Given the description of an element on the screen output the (x, y) to click on. 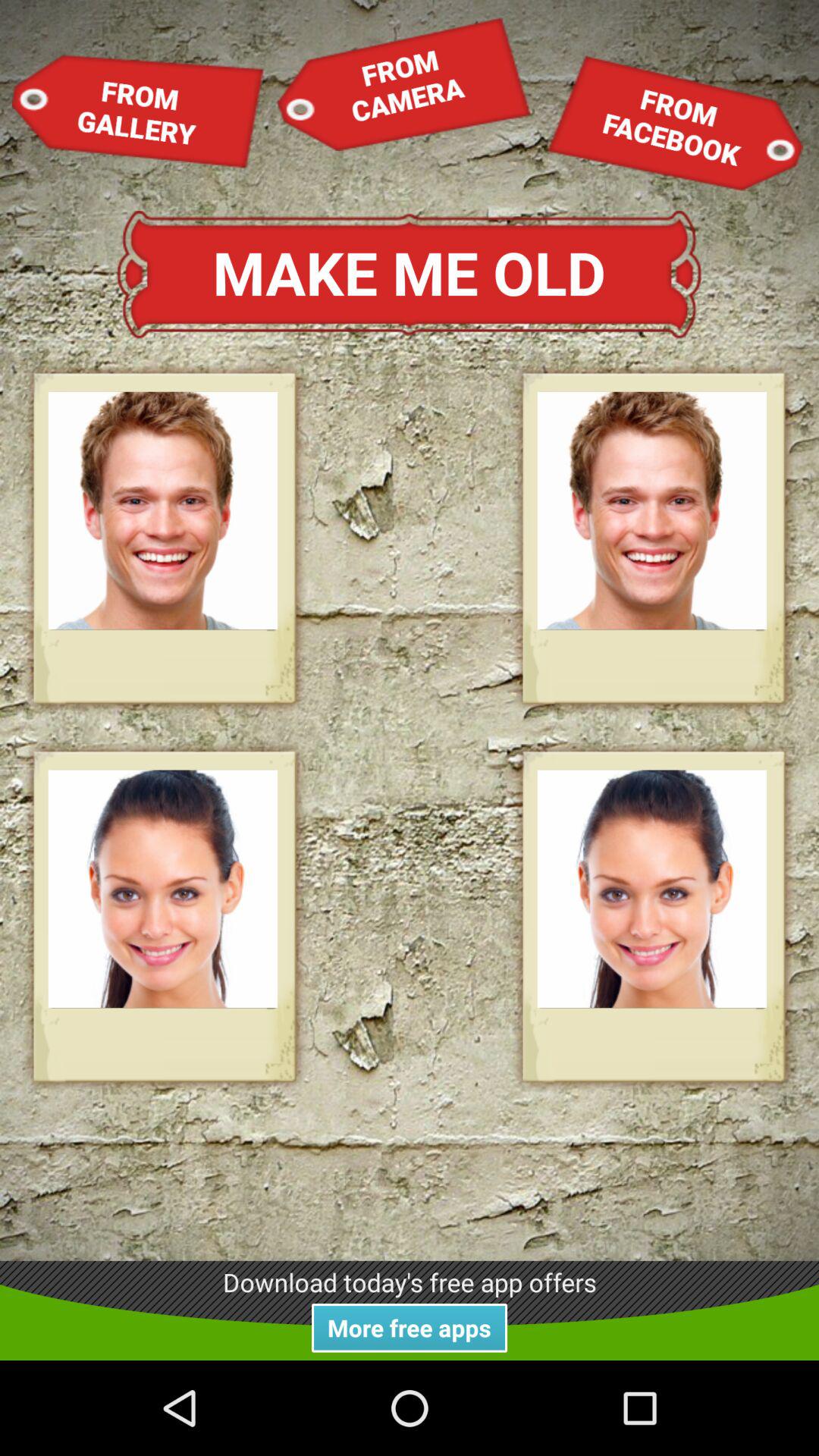
press item next to the from
gallery item (403, 83)
